Given the description of an element on the screen output the (x, y) to click on. 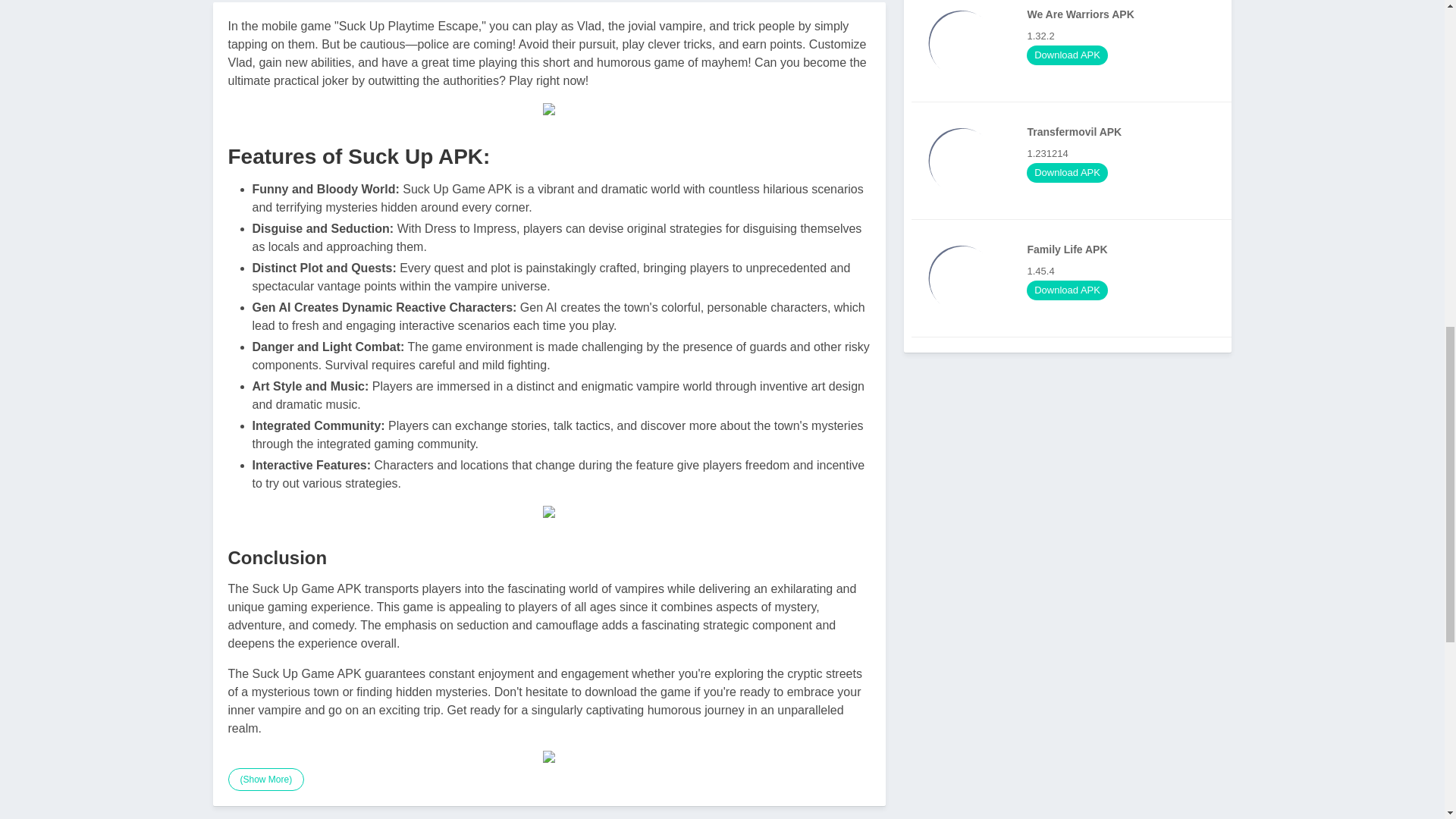
Transfermovil APK (1075, 46)
Transfermovil APK (962, 160)
We Are Warriors APK (1075, 160)
We Are Warriors APK (1075, 278)
